Given the description of an element on the screen output the (x, y) to click on. 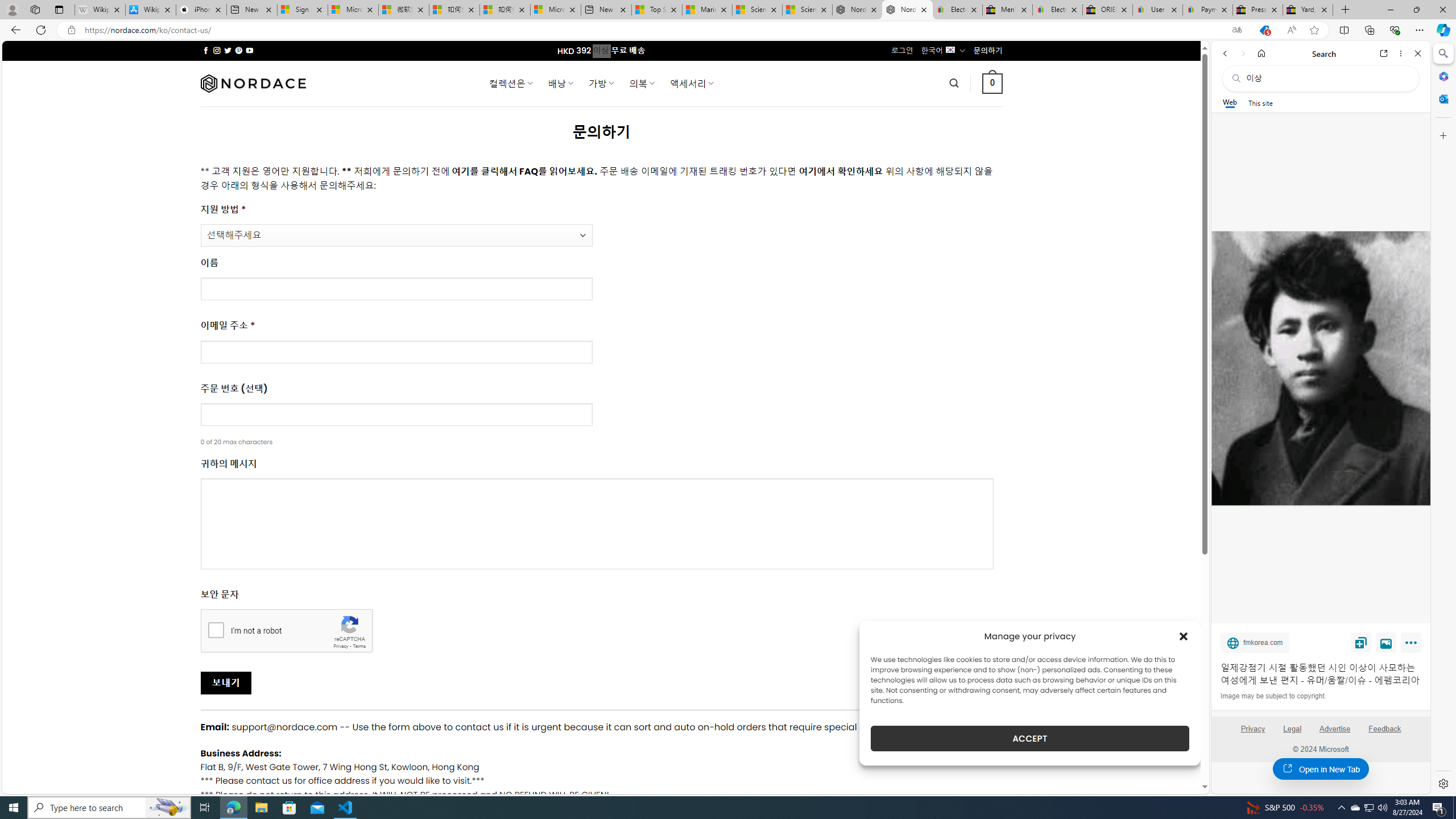
Search the web (1326, 78)
Microsoft account | Account Checkup (555, 9)
